Given the description of an element on the screen output the (x, y) to click on. 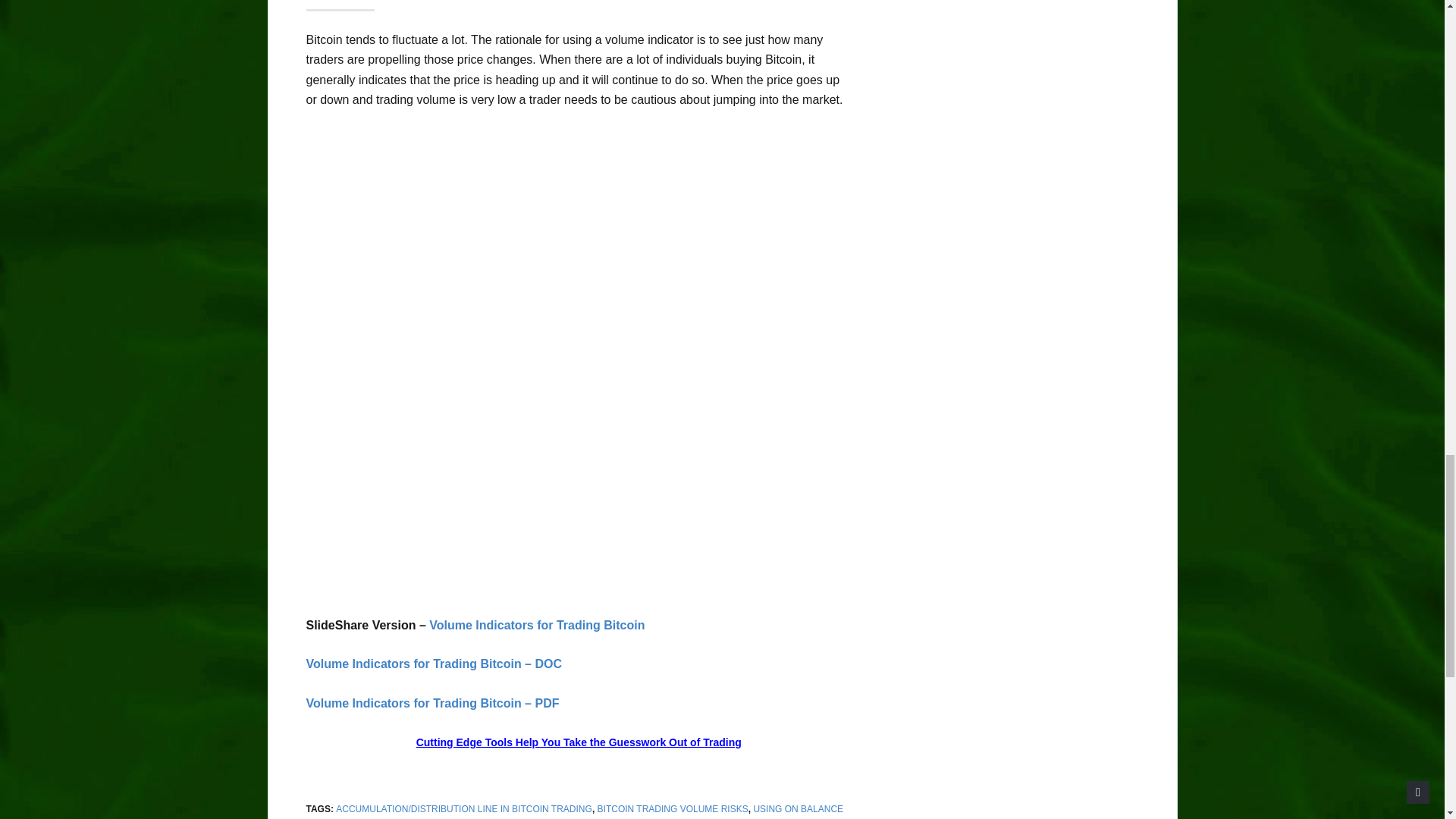
Volume Indicators for Trading Bitcoin (537, 625)
BITCOIN TRADING VOLUME RISKS (672, 808)
USING ON BALANCE VOLUME FOR TRADING BITCOIN (574, 811)
